Given the description of an element on the screen output the (x, y) to click on. 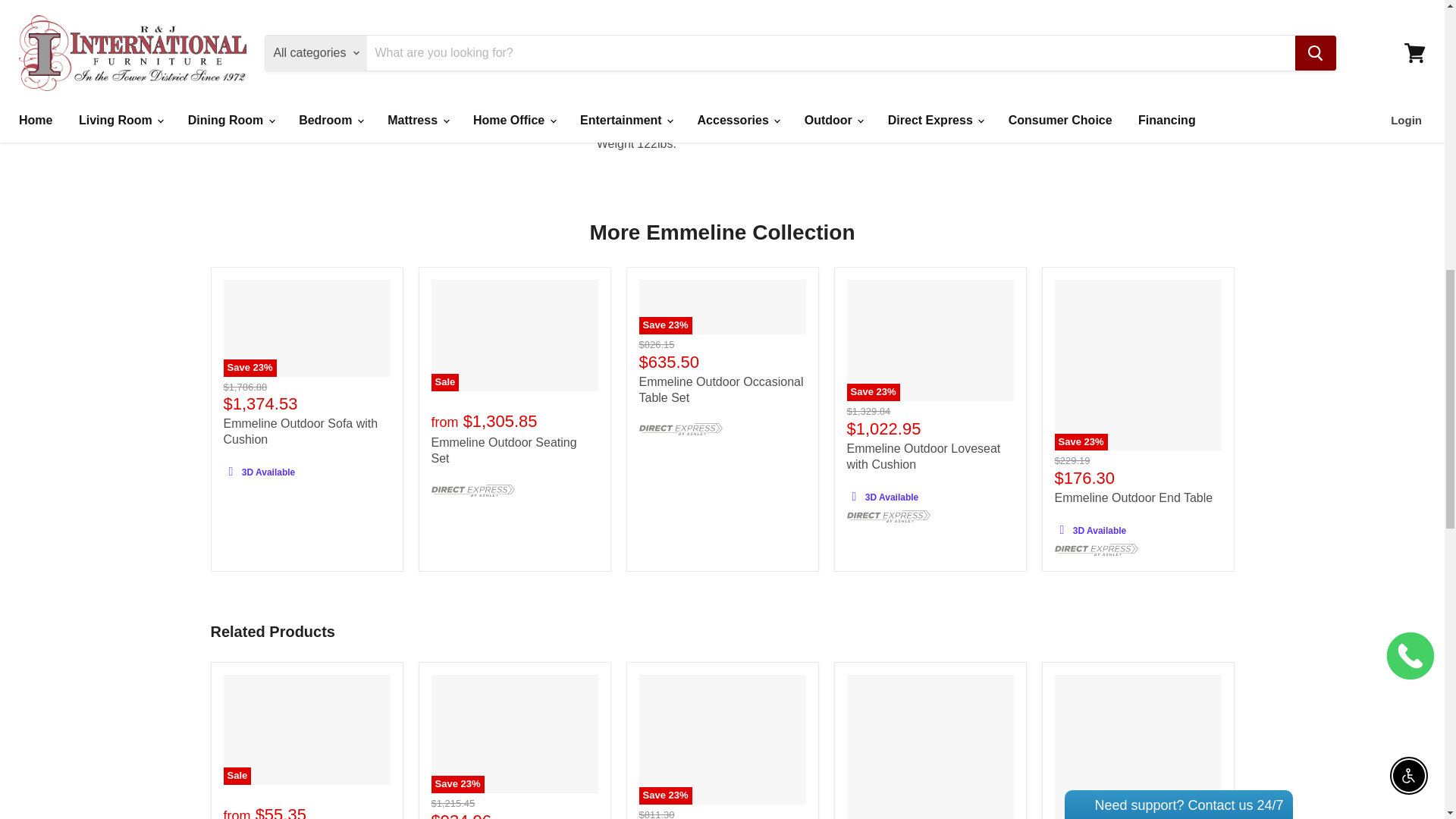
3D Viewing Available (853, 496)
Click to popout into a new window (1205, 31)
3D Viewing Available (1061, 529)
Click to minimize (1187, 31)
3D Viewing Available (230, 471)
